Given the description of an element on the screen output the (x, y) to click on. 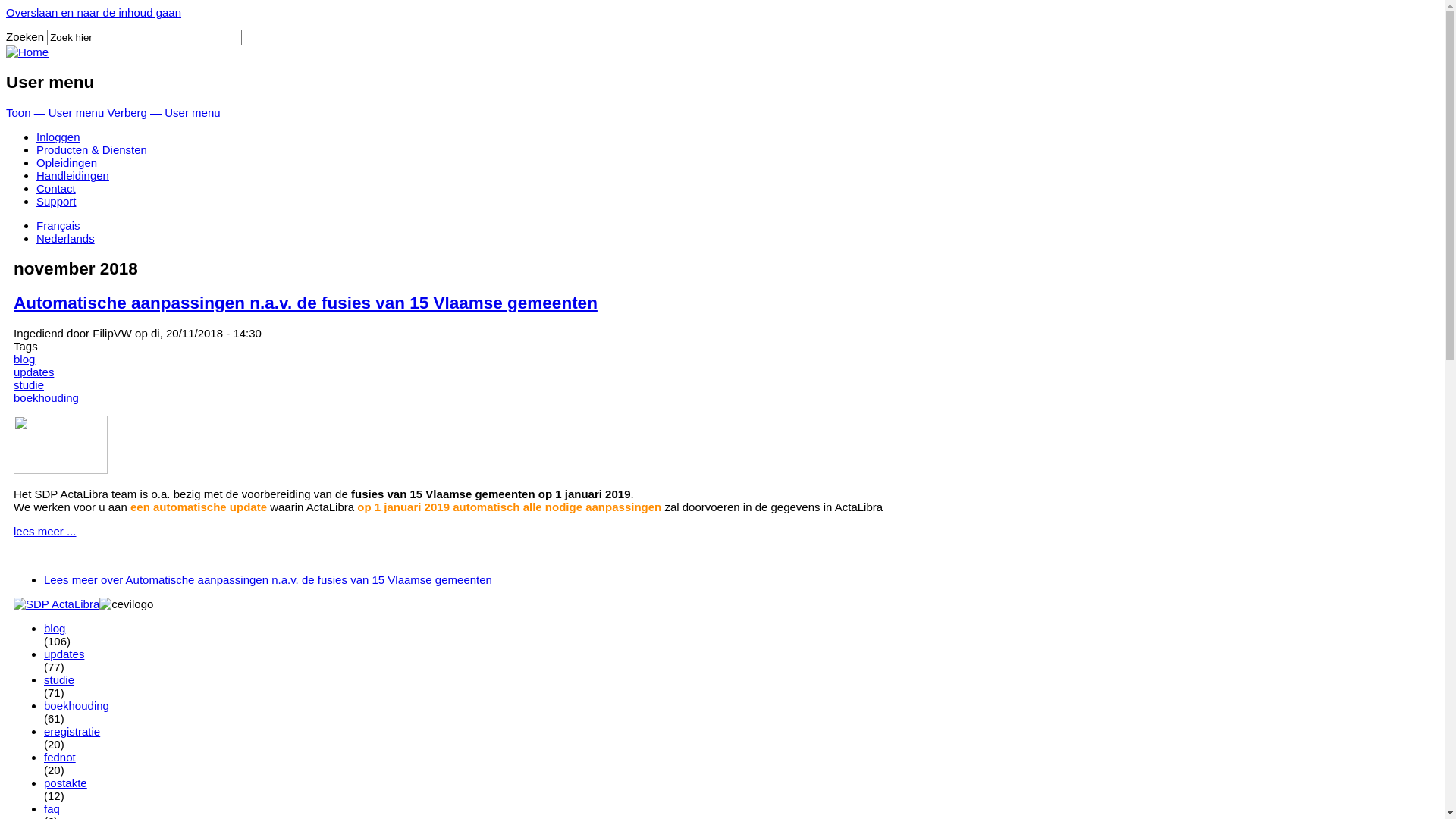
blog Element type: text (23, 358)
Contact Element type: text (55, 188)
faq Element type: text (51, 808)
updates Element type: text (33, 371)
Opleidingen Element type: text (66, 162)
boekhouding Element type: text (76, 705)
Home Element type: hover (27, 51)
Support Element type: text (56, 200)
Overslaan en naar de inhoud gaan Element type: text (93, 12)
eregistratie Element type: text (71, 730)
updates Element type: text (63, 653)
blog Element type: text (54, 627)
lees meer ... Element type: text (44, 530)
studie Element type: text (28, 384)
postakte Element type: text (65, 782)
Producten & Diensten Element type: text (91, 149)
studie Element type: text (58, 679)
boekhouding Element type: text (45, 397)
Handleidingen Element type: text (72, 175)
Nederlands Element type: text (65, 238)
Inloggen Element type: text (58, 136)
fednot Element type: text (59, 756)
